Given the description of an element on the screen output the (x, y) to click on. 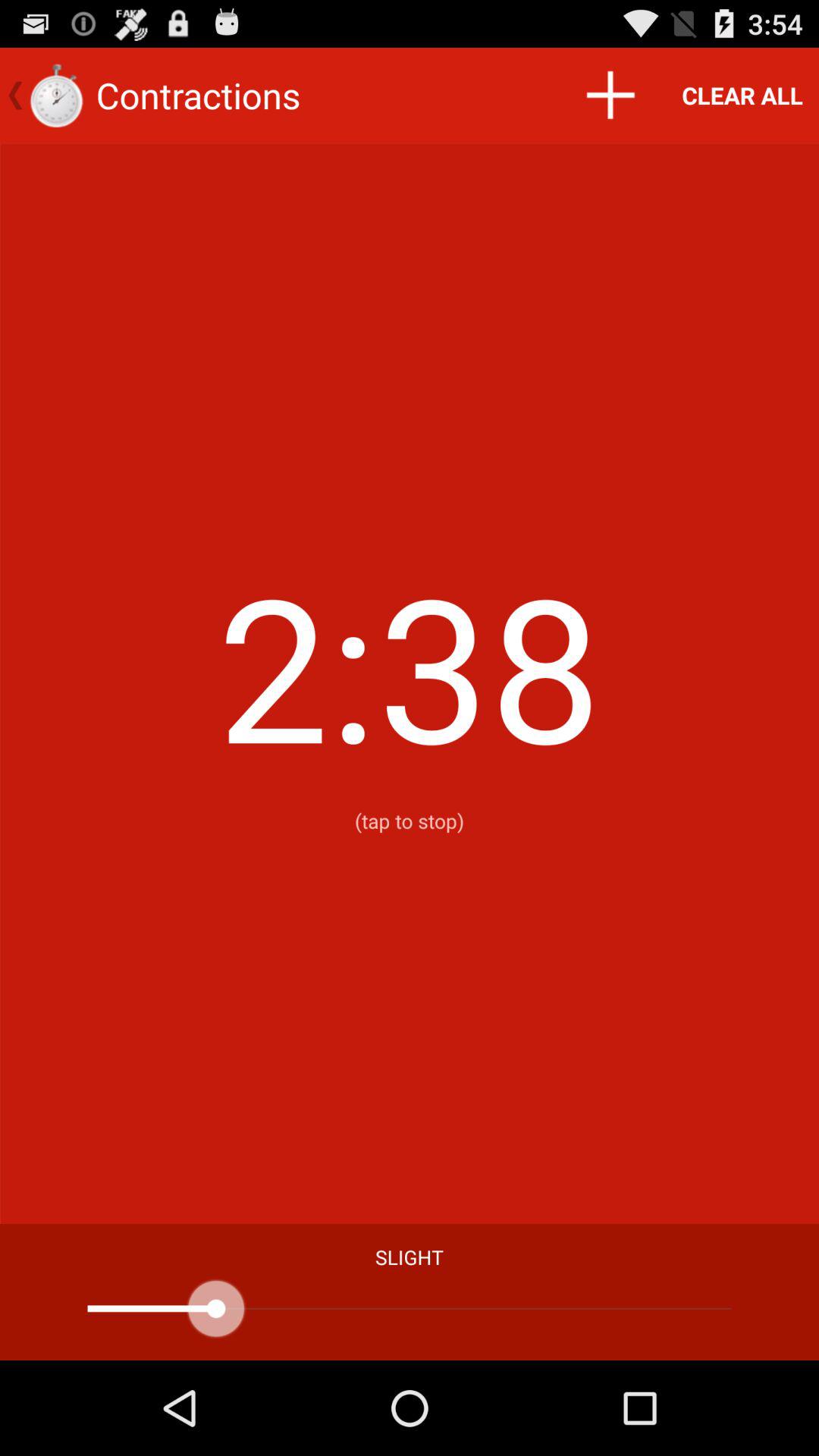
tap app above (tap to stop) icon (742, 95)
